Given the description of an element on the screen output the (x, y) to click on. 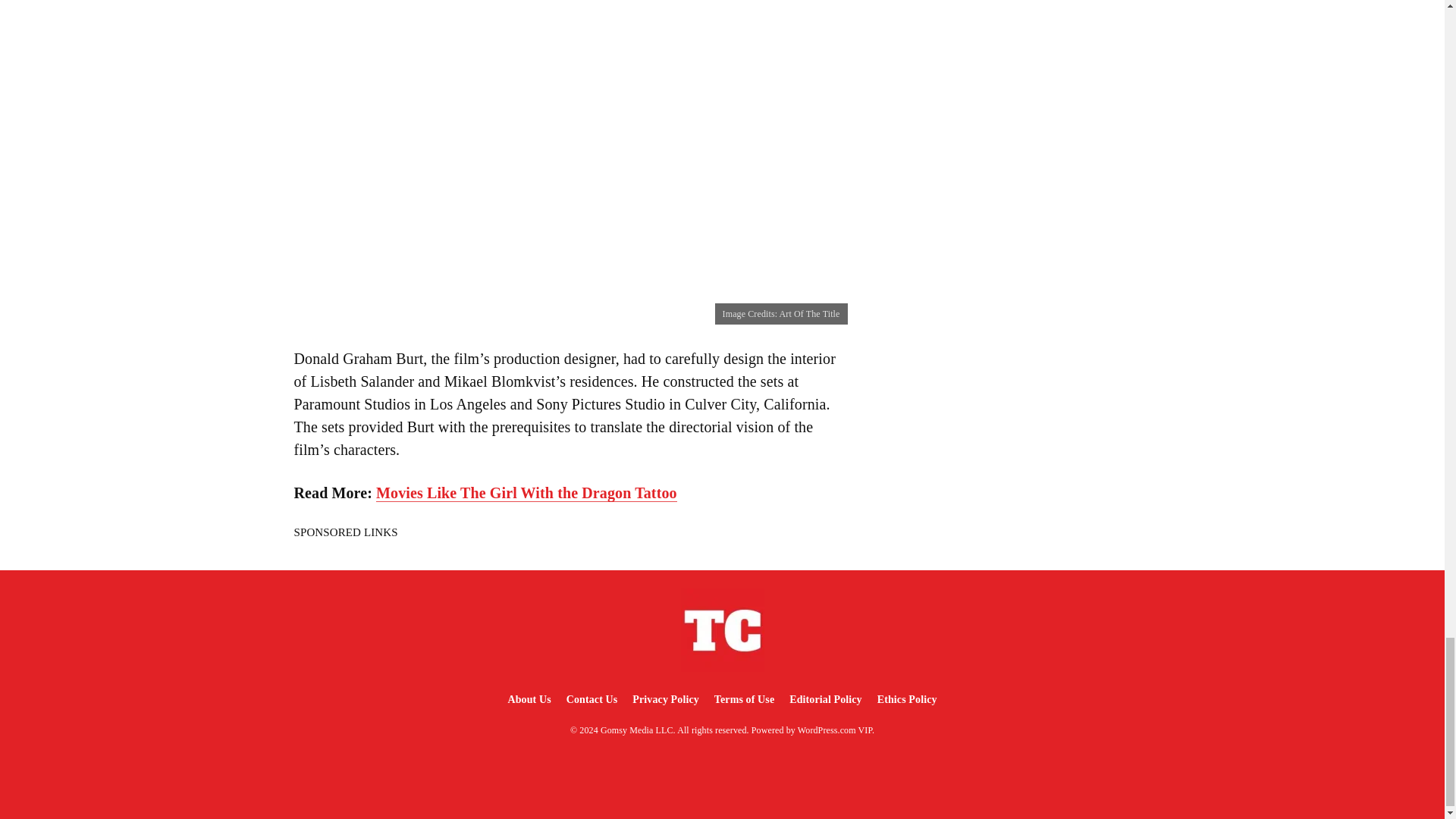
Terms of Use (743, 699)
WordPress.com VIP (834, 729)
About Us (528, 699)
Privacy Policy (665, 699)
Editorial Policy (825, 699)
Movies Like The Girl With the Dragon Tattoo (526, 493)
Ethics Policy (906, 699)
Contact Us (592, 699)
